Given the description of an element on the screen output the (x, y) to click on. 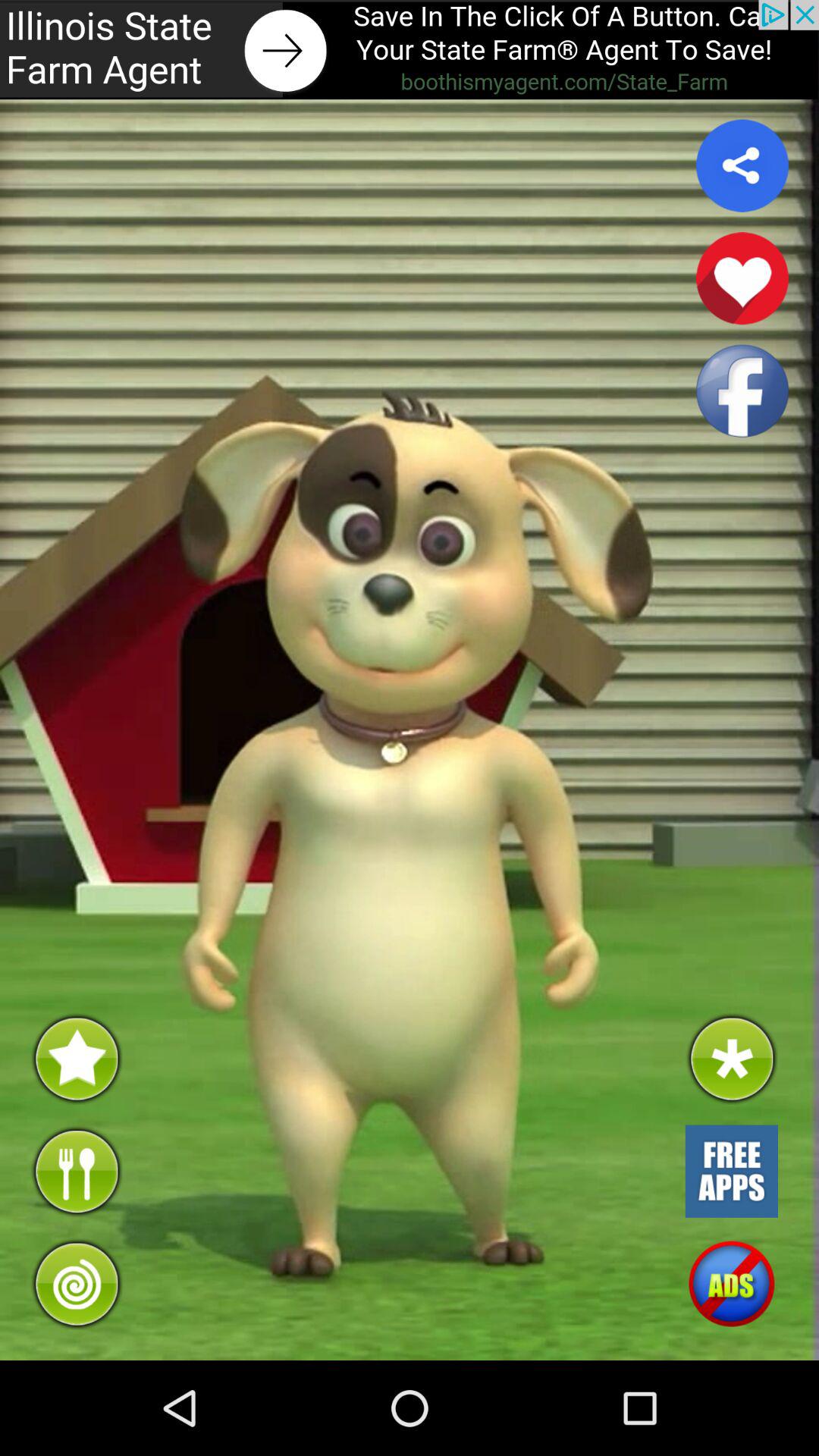
share on facebook (742, 390)
